Given the description of an element on the screen output the (x, y) to click on. 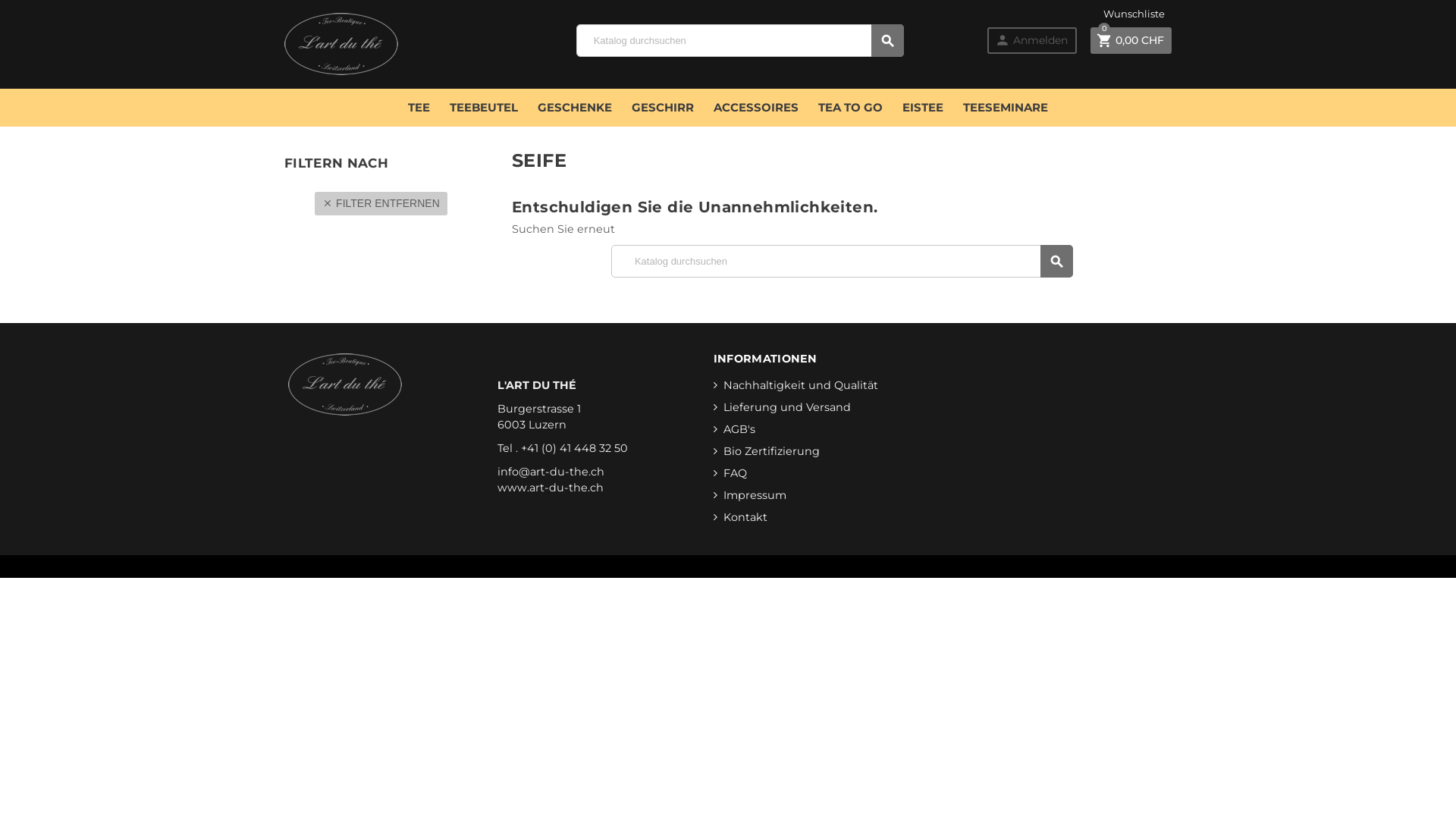
FAQ Element type: text (729, 473)
Lieferung und Versand Element type: text (781, 407)
Kontakt Element type: text (740, 517)
TEESEMINARE Element type: text (1005, 107)
www.art-du-the.ch Element type: text (550, 487)
GESCHENKE Element type: text (574, 107)
TEA TO GO Element type: text (850, 107)
ACCESSOIRES Element type: text (755, 107)
TEEBEUTEL Element type: text (483, 107)
TEE Element type: text (418, 107)
AGB's Element type: text (734, 429)
Bio Zertifizierung Element type: text (766, 451)
Impressum Element type: text (749, 495)
L'art du the GmbH Element type: hover (341, 46)
EISTEE Element type: text (922, 107)
info@art-du-the.ch Element type: text (550, 471)
GESCHIRR Element type: text (662, 107)
